Given the description of an element on the screen output the (x, y) to click on. 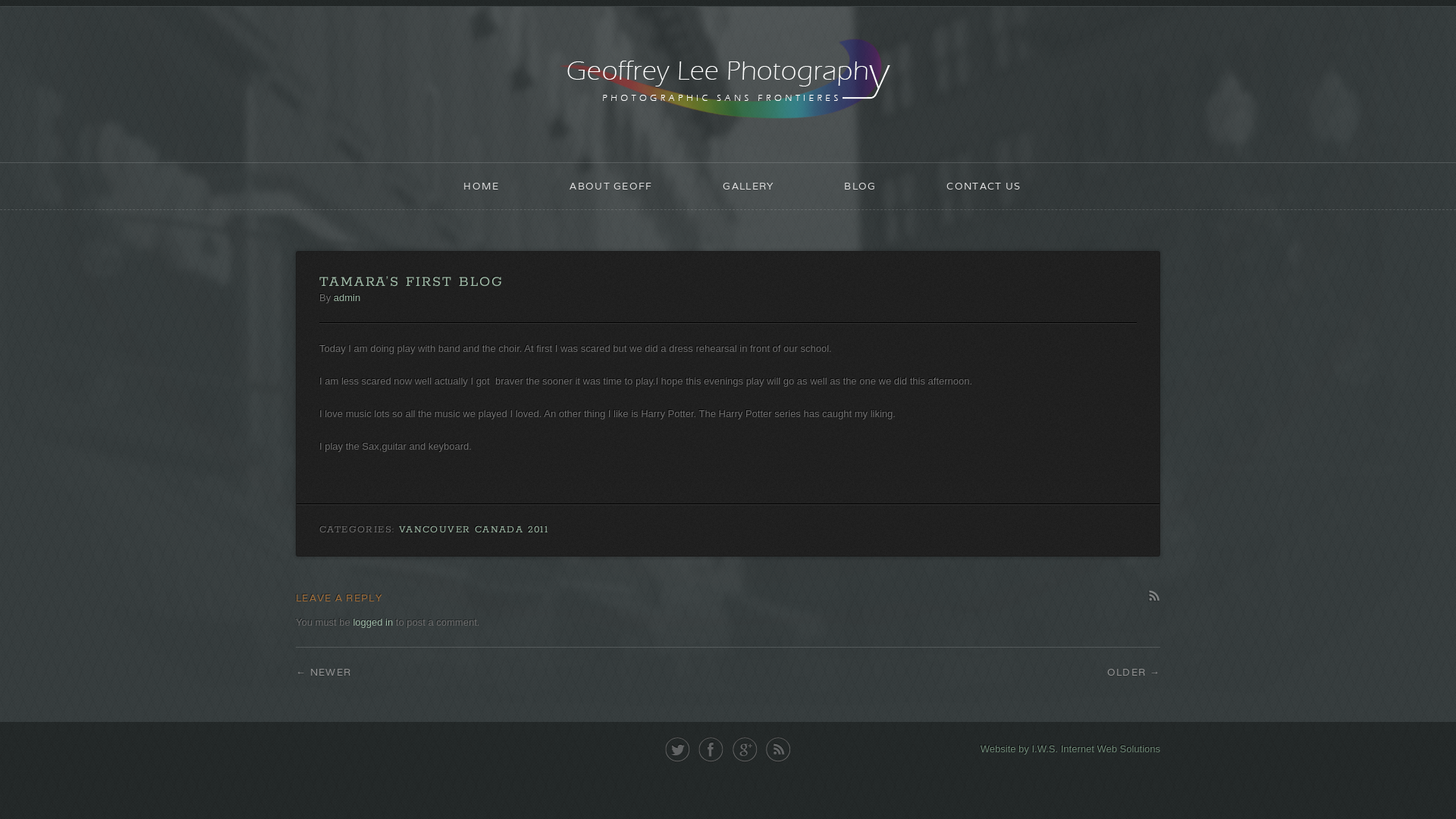
VANCOUVER CANADA 2011 Element type: text (473, 529)
Facebook Element type: hover (710, 749)
NEWER Element type: text (323, 672)
OLDER Element type: text (1133, 672)
logged in Element type: text (372, 621)
Home Element type: hover (727, 80)
RSS feed Element type: hover (777, 749)
GALLERY Element type: text (748, 186)
BLOG Element type: text (860, 186)
HOME Element type: text (481, 186)
Google Plus Element type: hover (744, 749)
ABOUT GEOFF Element type: text (610, 186)
CONTACT US Element type: text (983, 186)
Twitter Element type: hover (677, 749)
admin Element type: text (346, 297)
Website by I.W.S. Internet Web Solutions Element type: text (1070, 748)
